Given the description of an element on the screen output the (x, y) to click on. 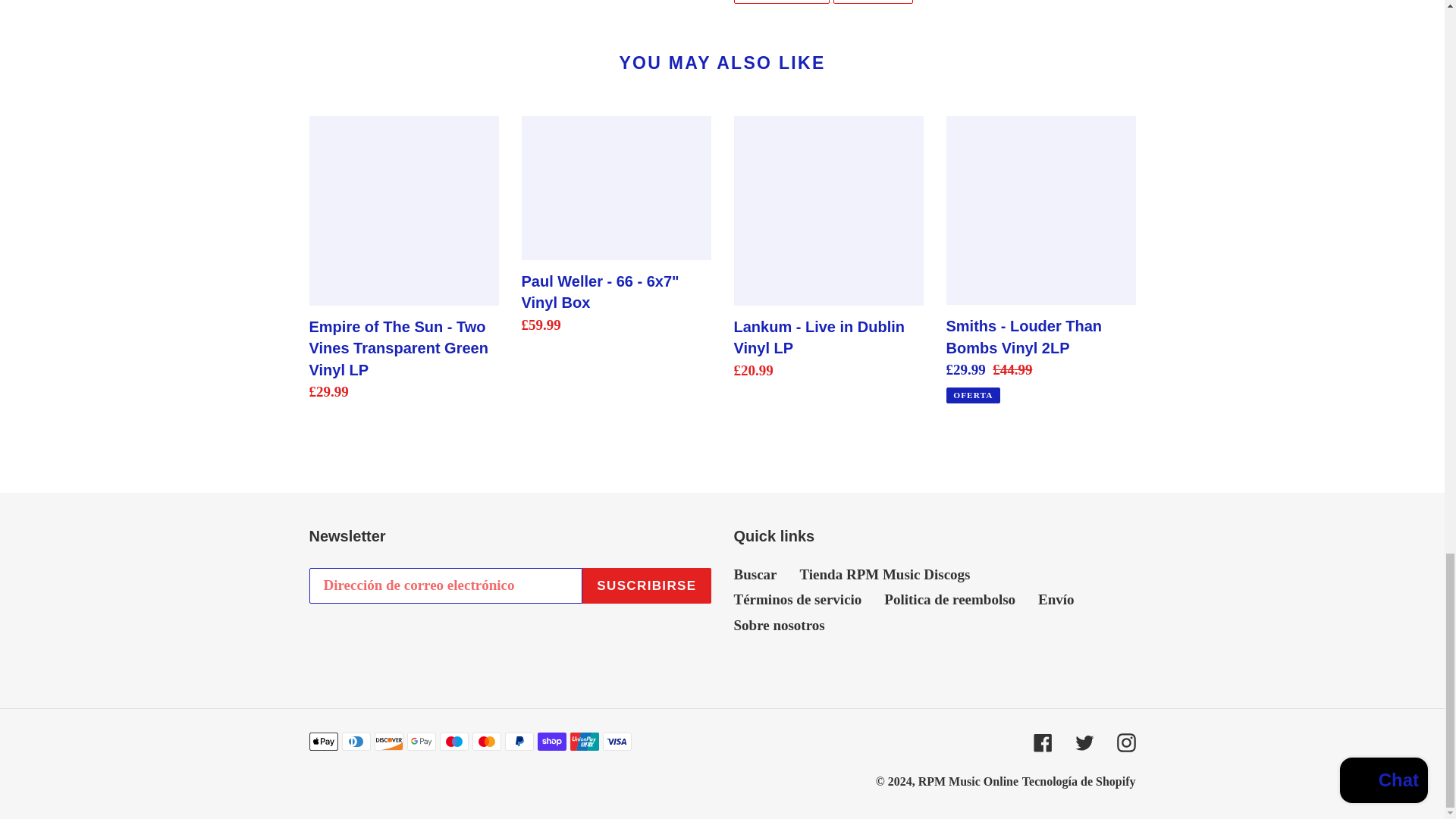
Tienda RPM Music Discogs (884, 574)
SUSCRIBIRSE (646, 586)
Buscar (781, 2)
Politica de reembolso (872, 2)
